Given the description of an element on the screen output the (x, y) to click on. 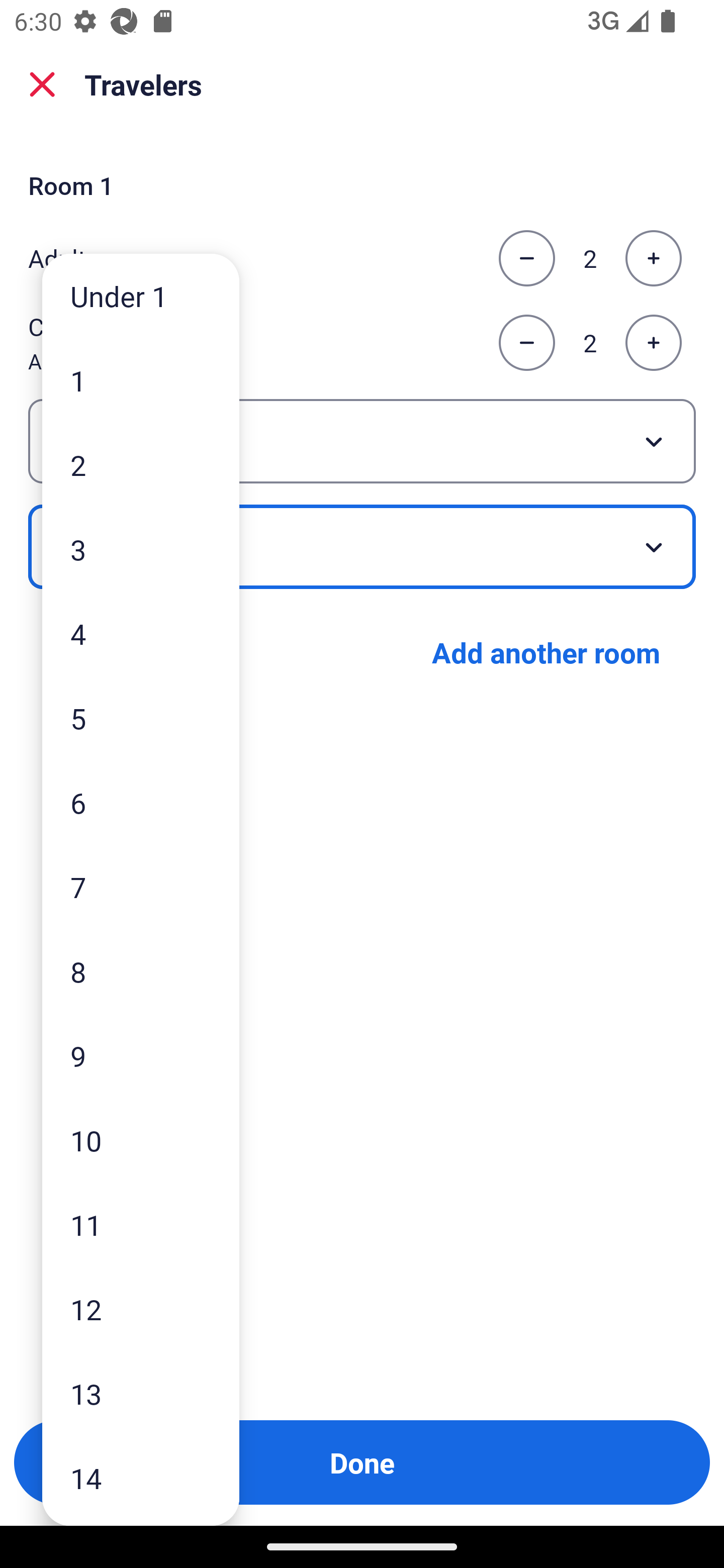
Under 1 (140, 296)
1 (140, 380)
2 (140, 464)
3 (140, 548)
4 (140, 633)
5 (140, 717)
6 (140, 802)
7 (140, 887)
8 (140, 970)
9 (140, 1054)
10 (140, 1139)
11 (140, 1224)
12 (140, 1308)
13 (140, 1393)
14 (140, 1478)
